Given the description of an element on the screen output the (x, y) to click on. 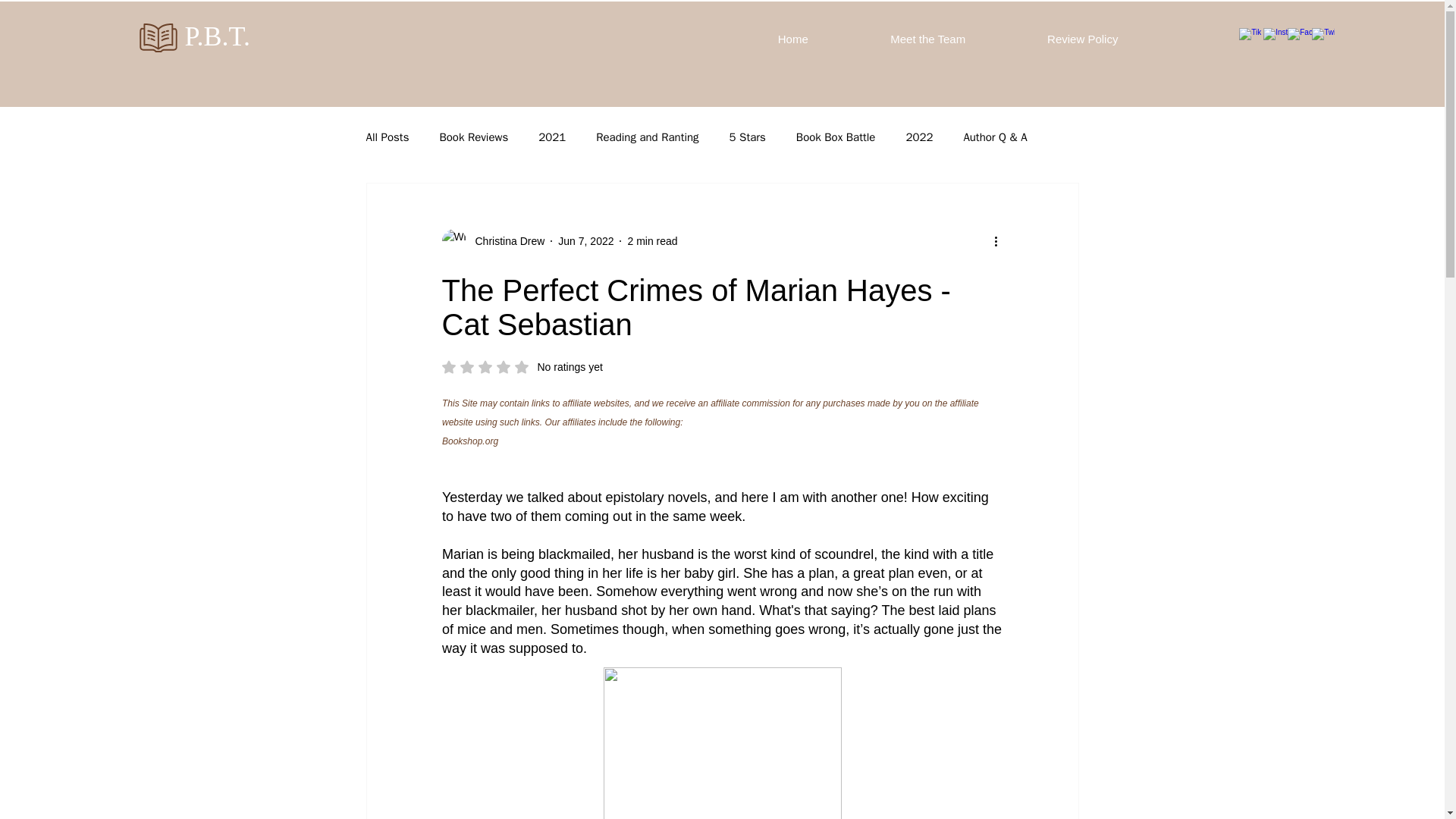
Review Policy (1082, 39)
Reading and Ranting (646, 137)
2021 (552, 137)
Meet the Team (927, 39)
5 Stars (521, 366)
2022 (747, 137)
All Posts (919, 137)
P.B.T. (387, 137)
Home (217, 36)
Jun 7, 2022 (792, 39)
Book Box Battle (584, 241)
2 min read (836, 137)
Book Reviews (652, 241)
Christina Drew (473, 137)
